Given the description of an element on the screen output the (x, y) to click on. 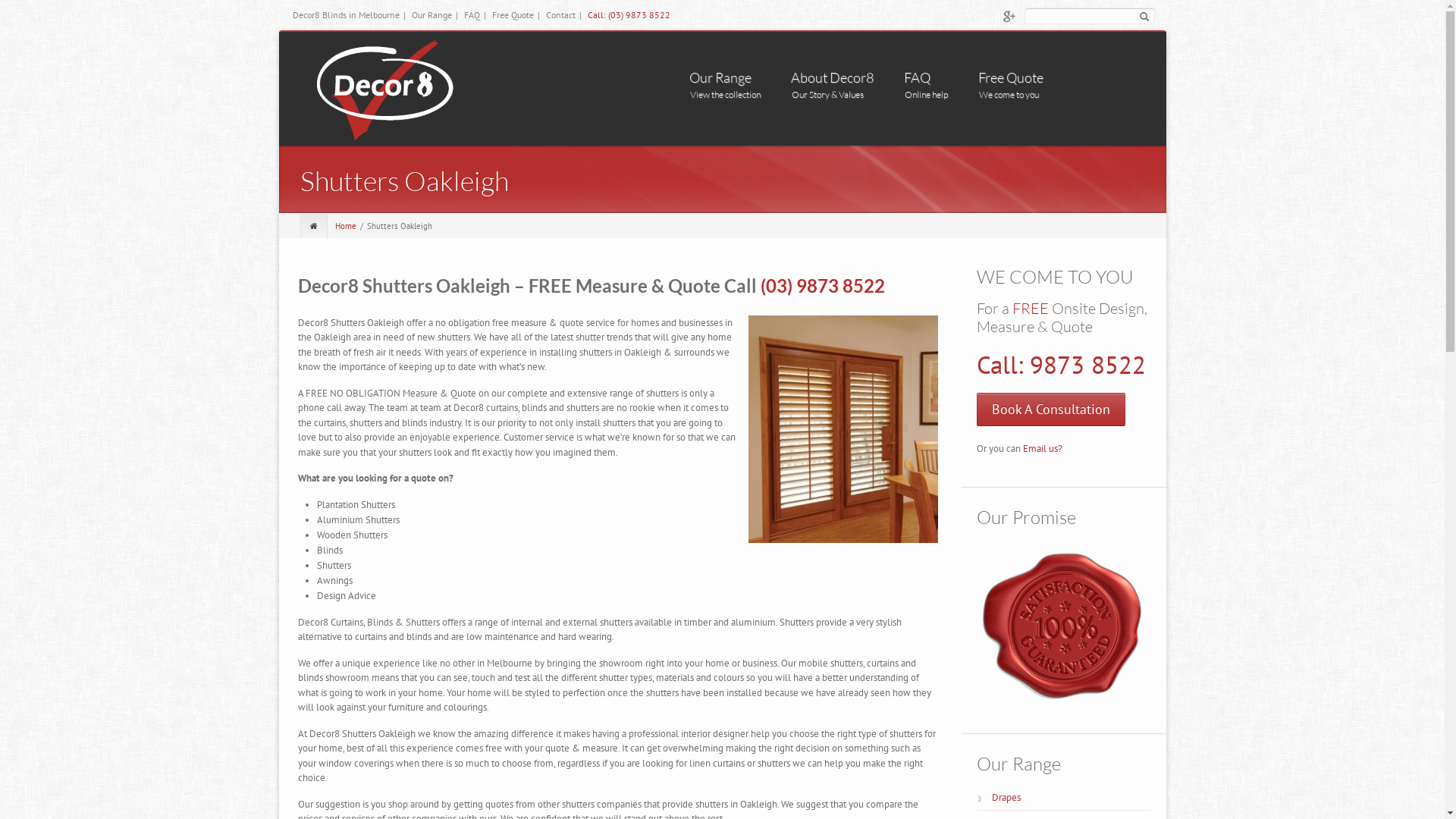
Drapes Element type: text (1071, 797)
Contact| Element type: text (565, 14)
Call: (03) 9873 8522 Element type: text (627, 14)
FAQ Element type: text (925, 76)
Our Range| Element type: text (436, 14)
Book A Consultation Element type: text (1050, 409)
(03) 9873 8522 Element type: text (821, 285)
Email us? Element type: text (1041, 448)
Free Quote Element type: text (1010, 76)
Home Element type: text (347, 225)
Free Quote| Element type: text (516, 14)
Decor8 Blinds in Melbourne| Element type: text (350, 14)
FAQ| Element type: text (476, 14)
